Given the description of an element on the screen output the (x, y) to click on. 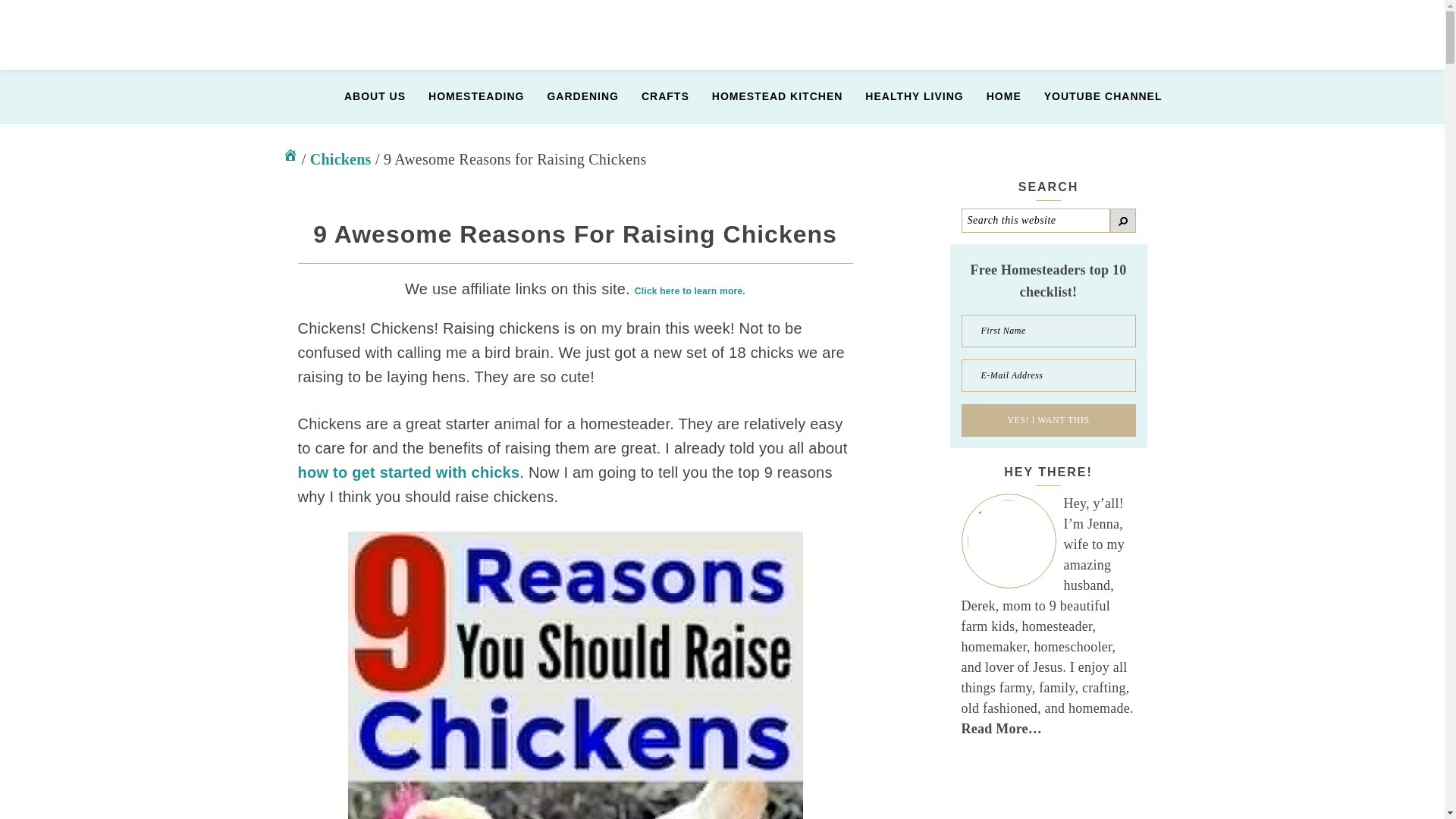
How to Get Started With Baby Chicks (408, 472)
Chickens (340, 158)
GARDENING (572, 96)
YOUTUBE CHANNEL (1093, 96)
HOME (995, 96)
Yes! I Want This (1047, 420)
HOMESTEAD KITCHEN (768, 96)
THE FLIP FLOP BARNYARD (405, 34)
ABOUT US (365, 96)
